Given the description of an element on the screen output the (x, y) to click on. 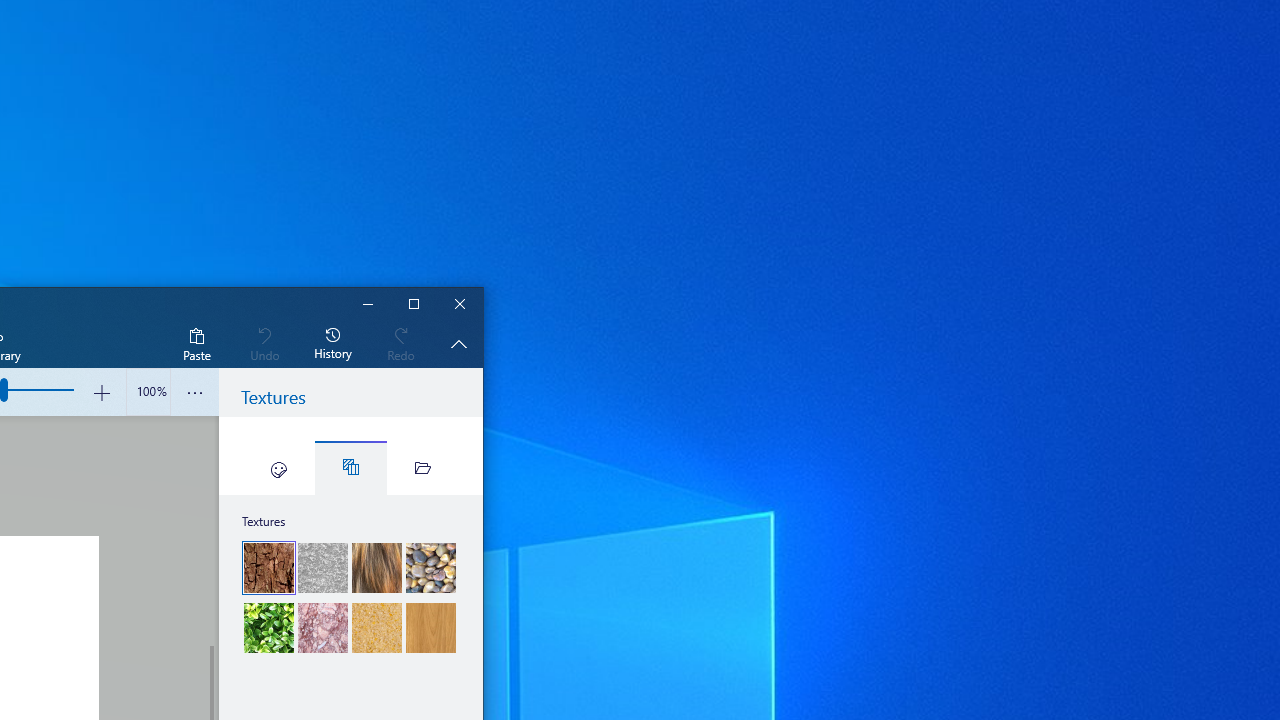
Undo (264, 343)
Bark (268, 567)
Hide description (458, 343)
Stickers (278, 467)
Concrete (323, 567)
Sand (376, 628)
Gravel (430, 567)
View more options (194, 391)
Paste (196, 343)
Marble (323, 628)
Hedge (269, 628)
Wood (430, 628)
Redo (401, 343)
History (333, 343)
